Given the description of an element on the screen output the (x, y) to click on. 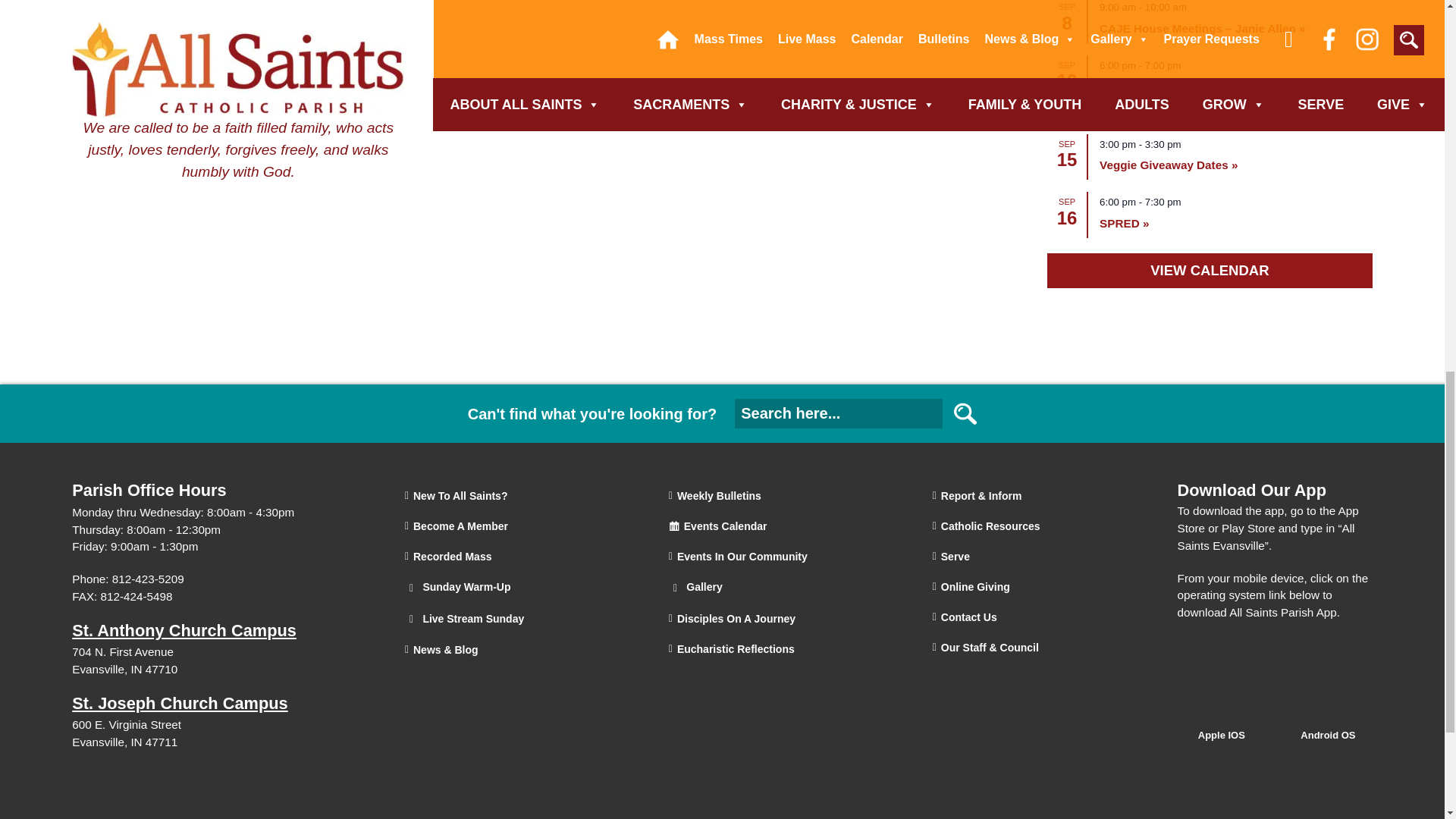
Veggie Giveaway Dates (1168, 164)
SPRED (1123, 223)
View more events. (1209, 271)
All Saints App for Apple (1221, 719)
All Saints App for Android (1328, 719)
